Given the description of an element on the screen output the (x, y) to click on. 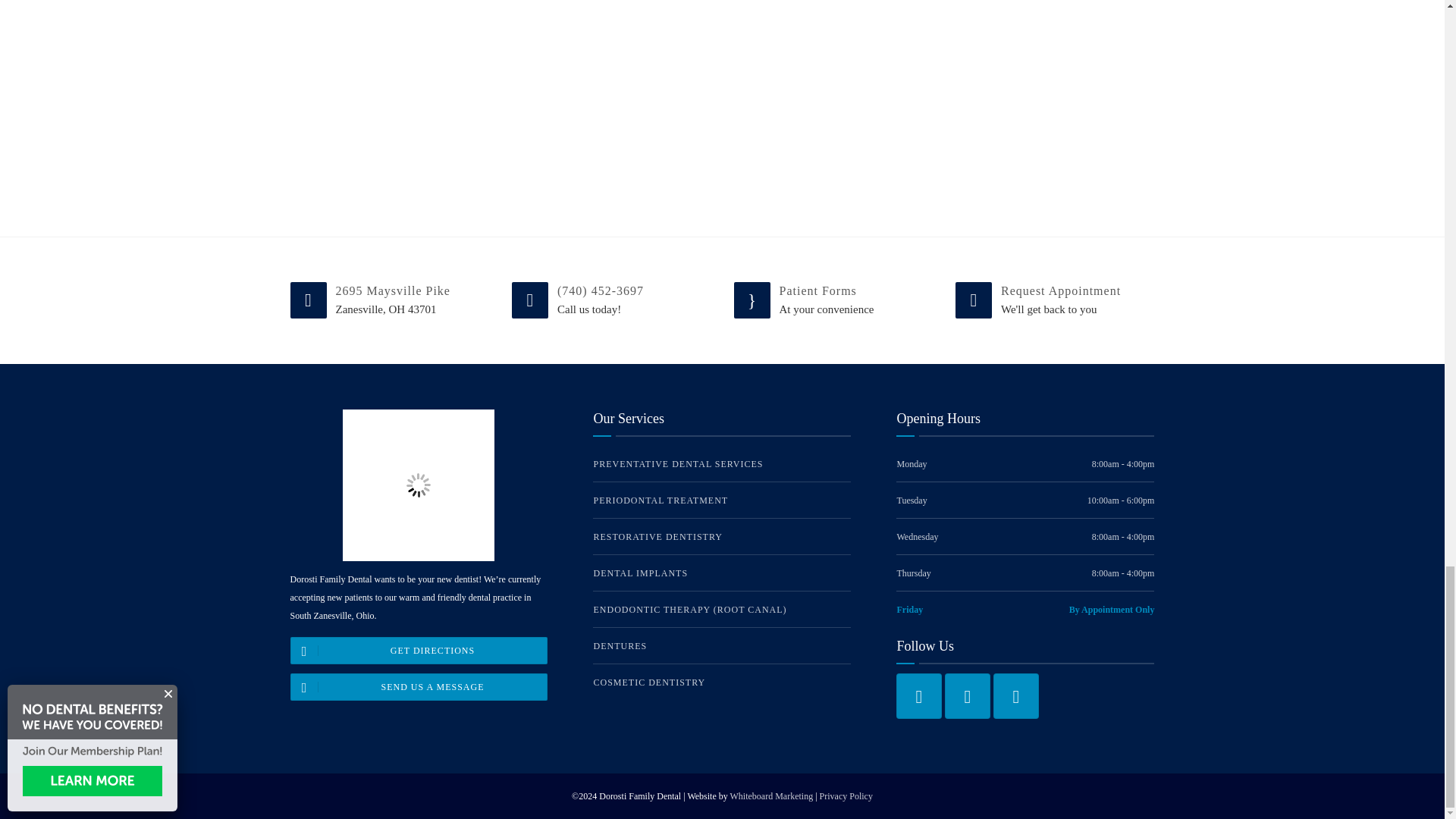
Whiteboard Marketing (771, 796)
